Given the description of an element on the screen output the (x, y) to click on. 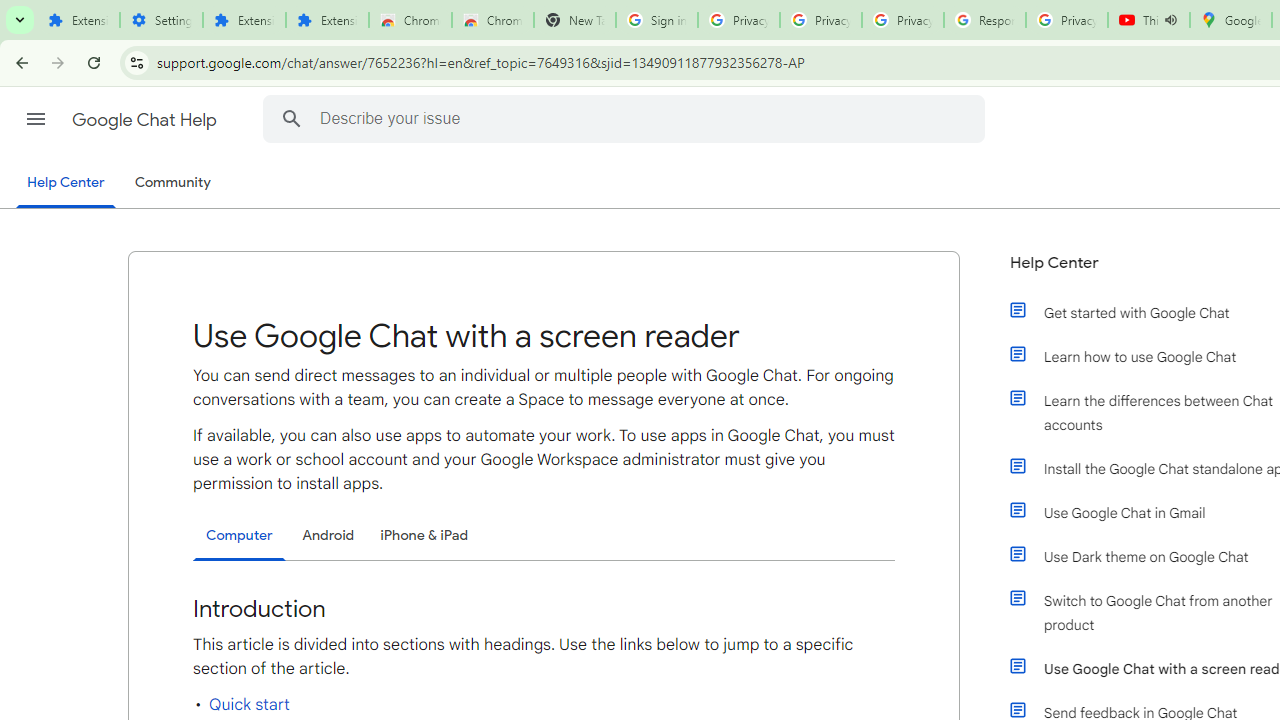
Search Help Center (291, 118)
New Tab (574, 20)
Extensions (78, 20)
Chrome Web Store - Themes (492, 20)
Google Chat Help (146, 119)
Community (171, 183)
Chrome Web Store (409, 20)
